Given the description of an element on the screen output the (x, y) to click on. 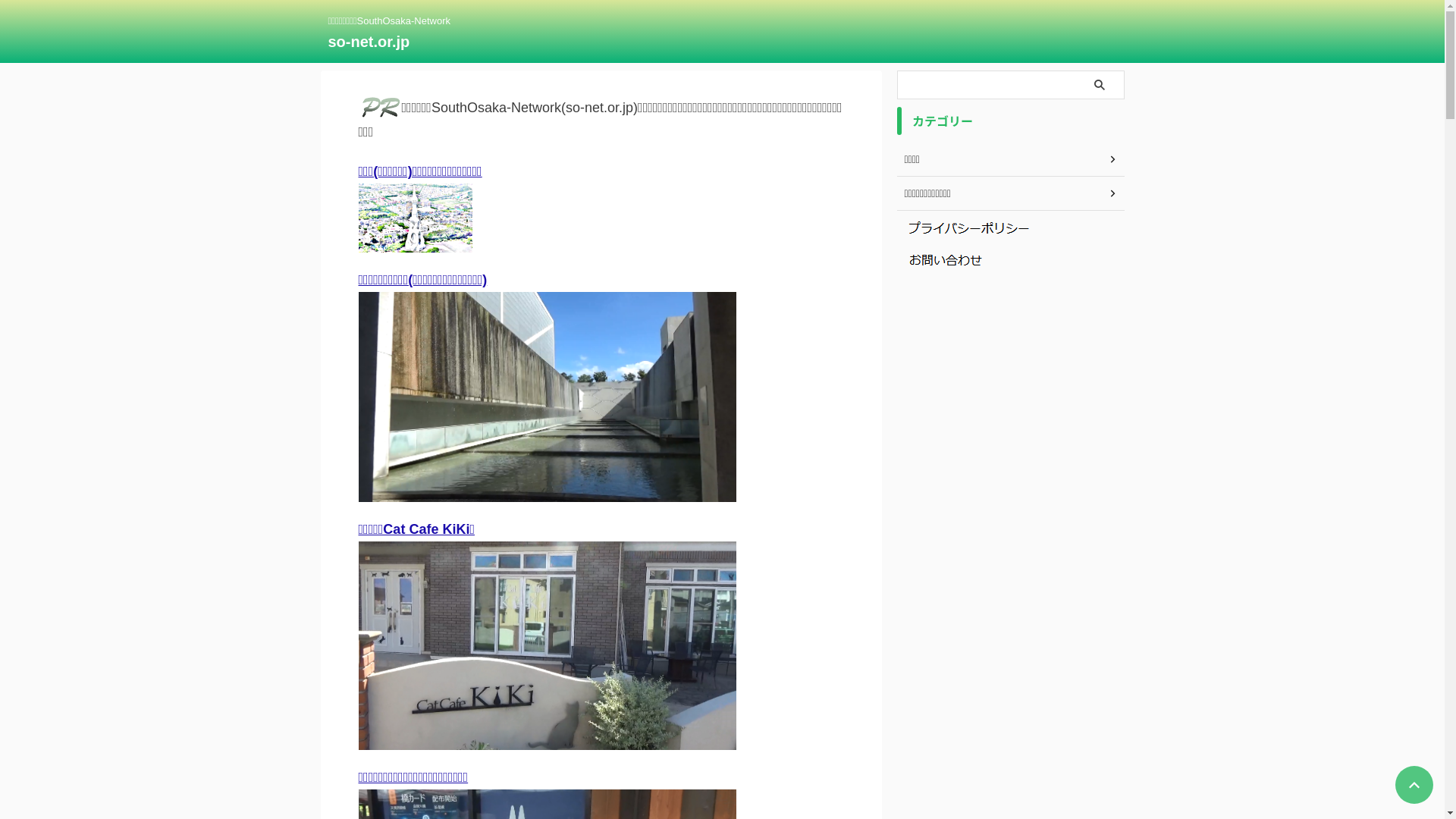
so-net.or.jp Element type: text (368, 41)
Cat Cafe KiKi Element type: hover (546, 645)
